Given the description of an element on the screen output the (x, y) to click on. 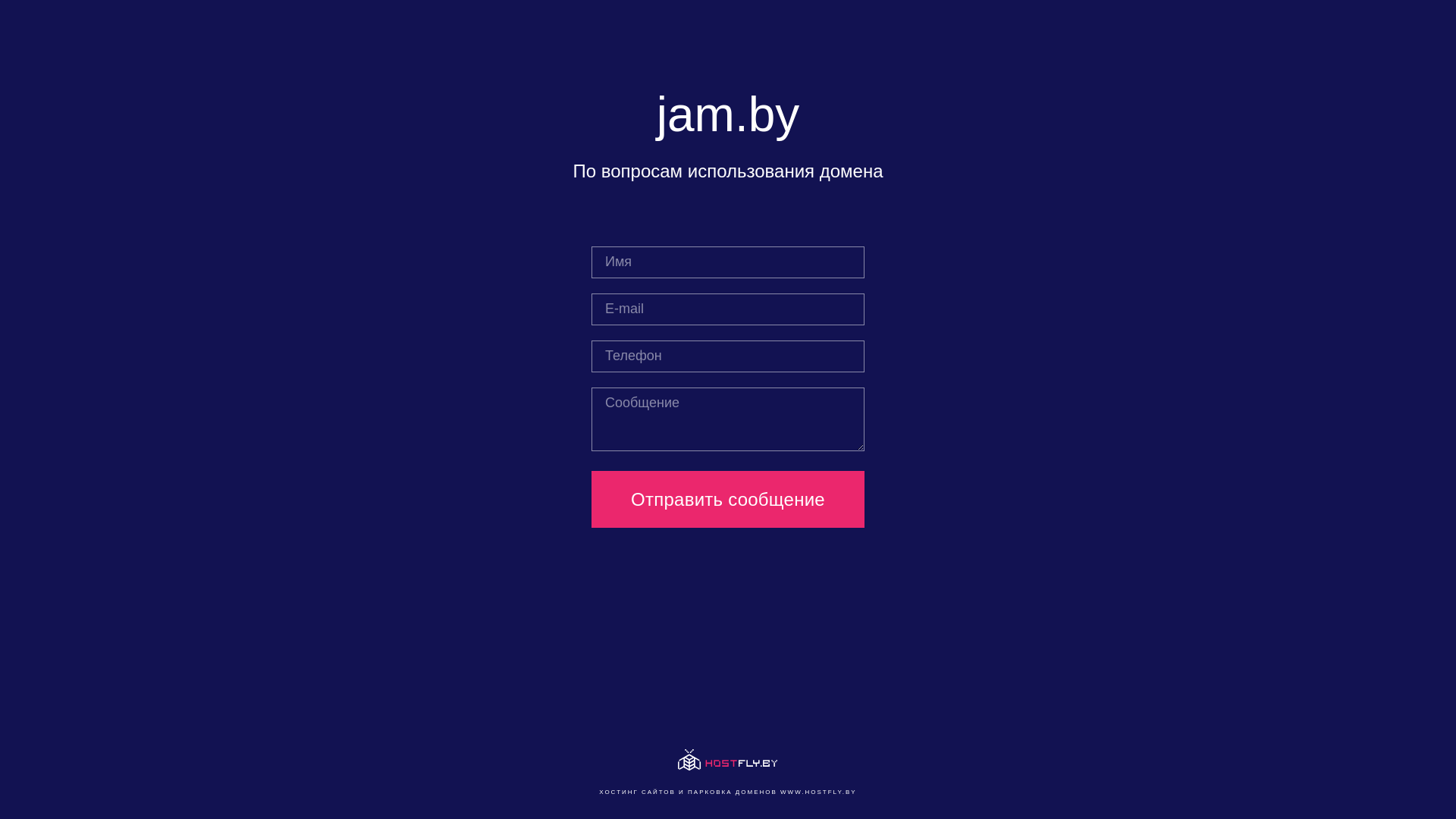
WWW.HOSTFLY.BY Element type: text (818, 791)
